Given the description of an element on the screen output the (x, y) to click on. 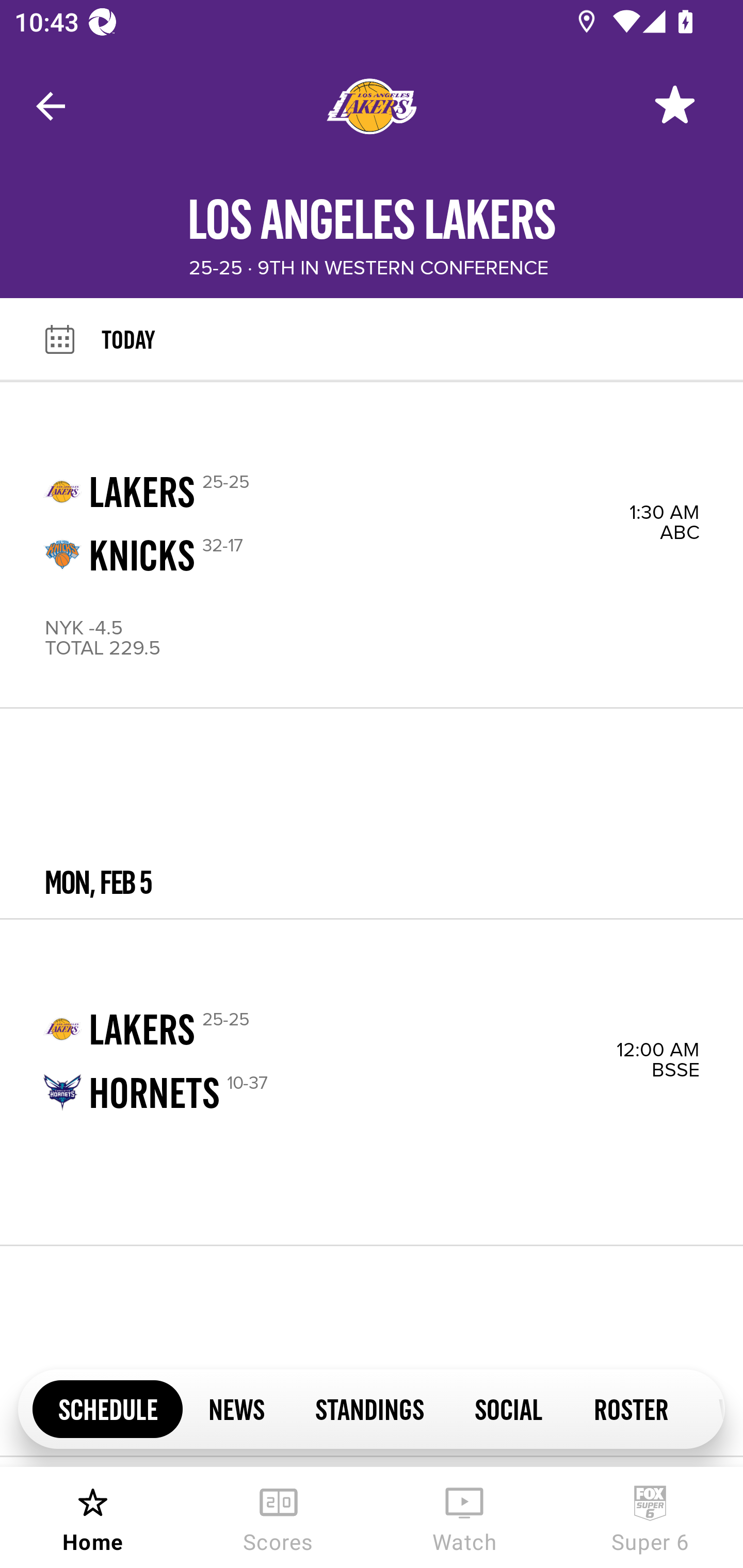
Navigate up (50, 106)
25-25 · 9TH IN WESTERN CONFERENCE (368, 267)
TODAY (422, 339)
MON, FEB 5 (371, 813)
LAKERS 25-25 12:00 AM HORNETS 10-37 BSSE (371, 1082)
NEWS (235, 1408)
STANDINGS (369, 1408)
SOCIAL (508, 1408)
ROSTER (630, 1408)
Scores (278, 1517)
Watch (464, 1517)
Super 6 (650, 1517)
